Given the description of an element on the screen output the (x, y) to click on. 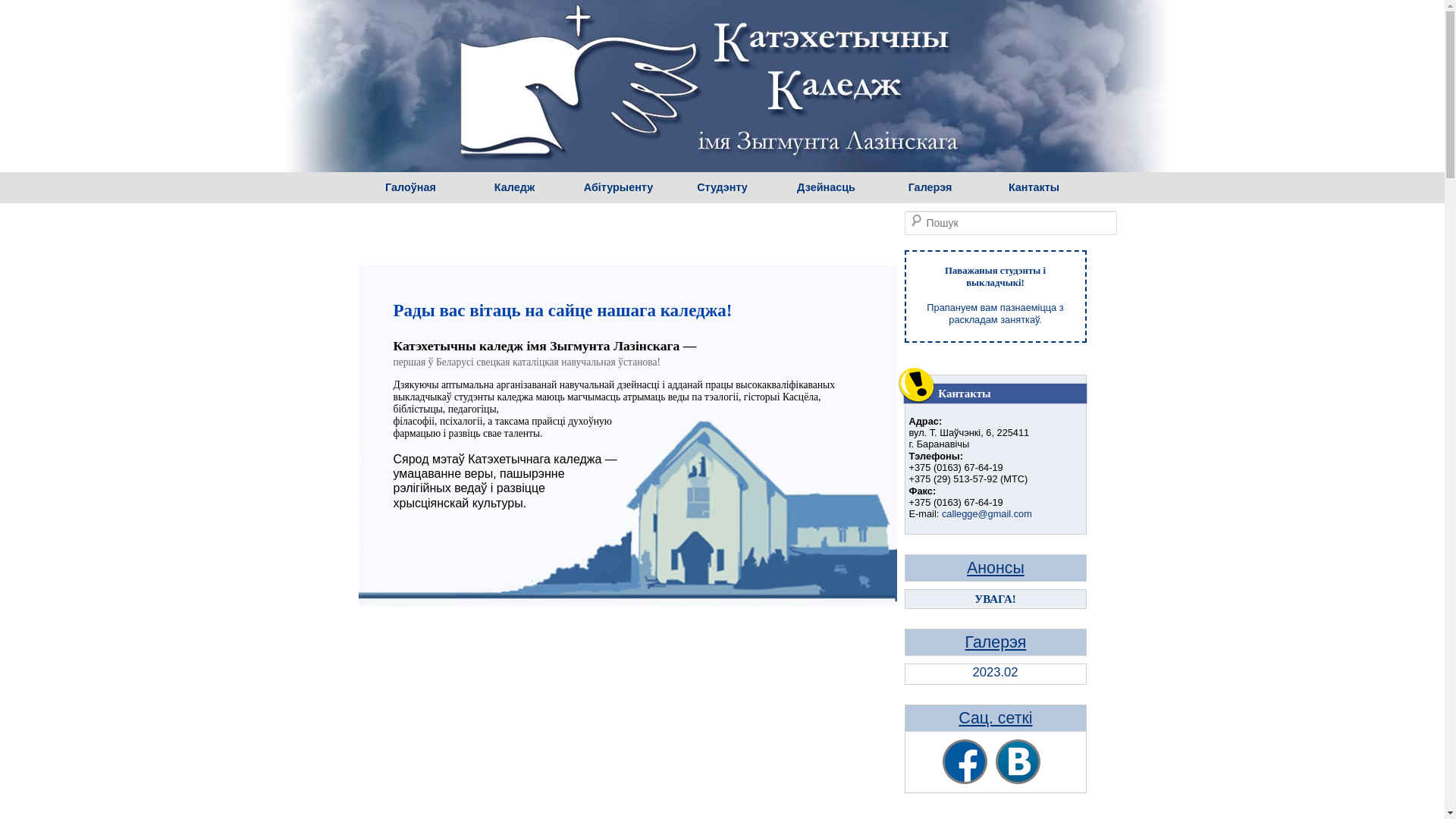
callegge@gmail.com Element type: text (986, 513)
2023.02 Element type: text (995, 674)
